Given the description of an element on the screen output the (x, y) to click on. 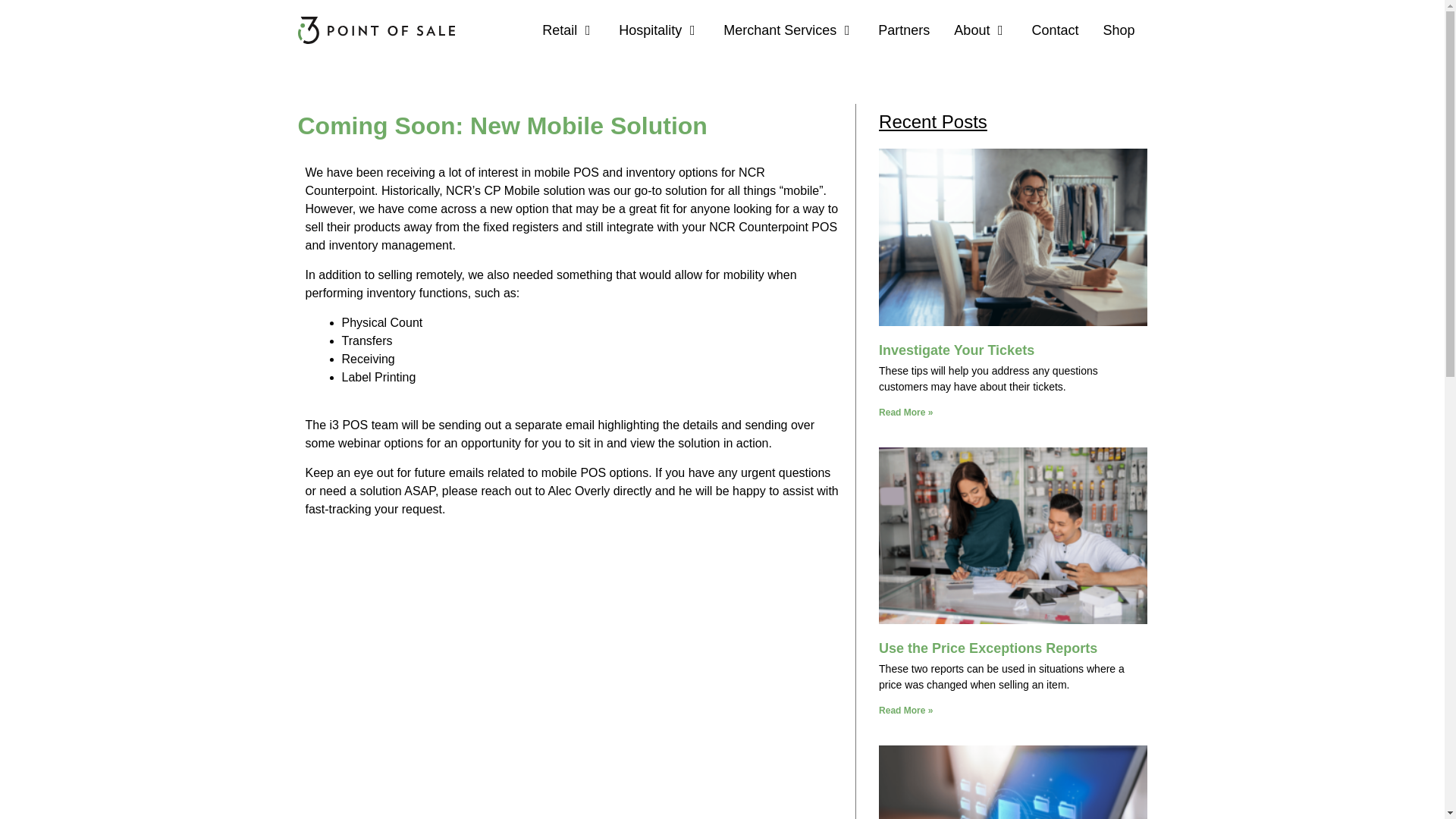
About (971, 30)
Retail (558, 30)
Shop (1118, 30)
Partners (903, 30)
Hospitality (649, 30)
Merchant Services (779, 30)
Contact (1054, 30)
